Given the description of an element on the screen output the (x, y) to click on. 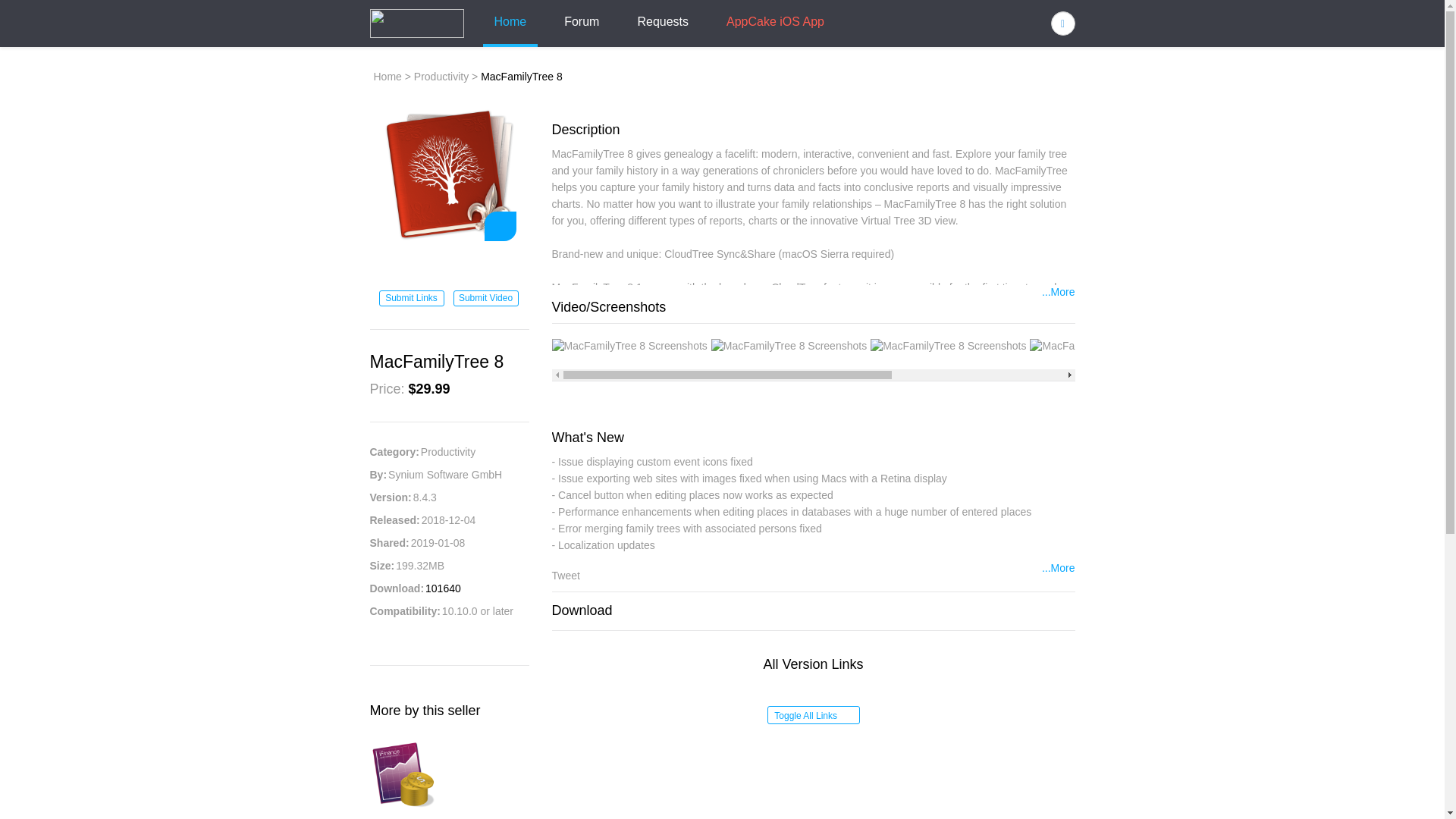
...More (1058, 568)
MacFamilyTree 8 Screenshots (1267, 346)
Forum (581, 23)
View In iTunes (449, 266)
Requests (663, 23)
Submit Links (411, 298)
MacFamilyTree 8 Screenshots (1107, 346)
...More (1058, 292)
MacFamilyTree 8 Icon (448, 173)
MacFamilyTree 8 Screenshots (788, 346)
Productivity (440, 76)
Submit Video (485, 298)
AppCake iOS App (774, 23)
Home (386, 76)
MacFamilyTree 8 Screenshots (629, 346)
